Given the description of an element on the screen output the (x, y) to click on. 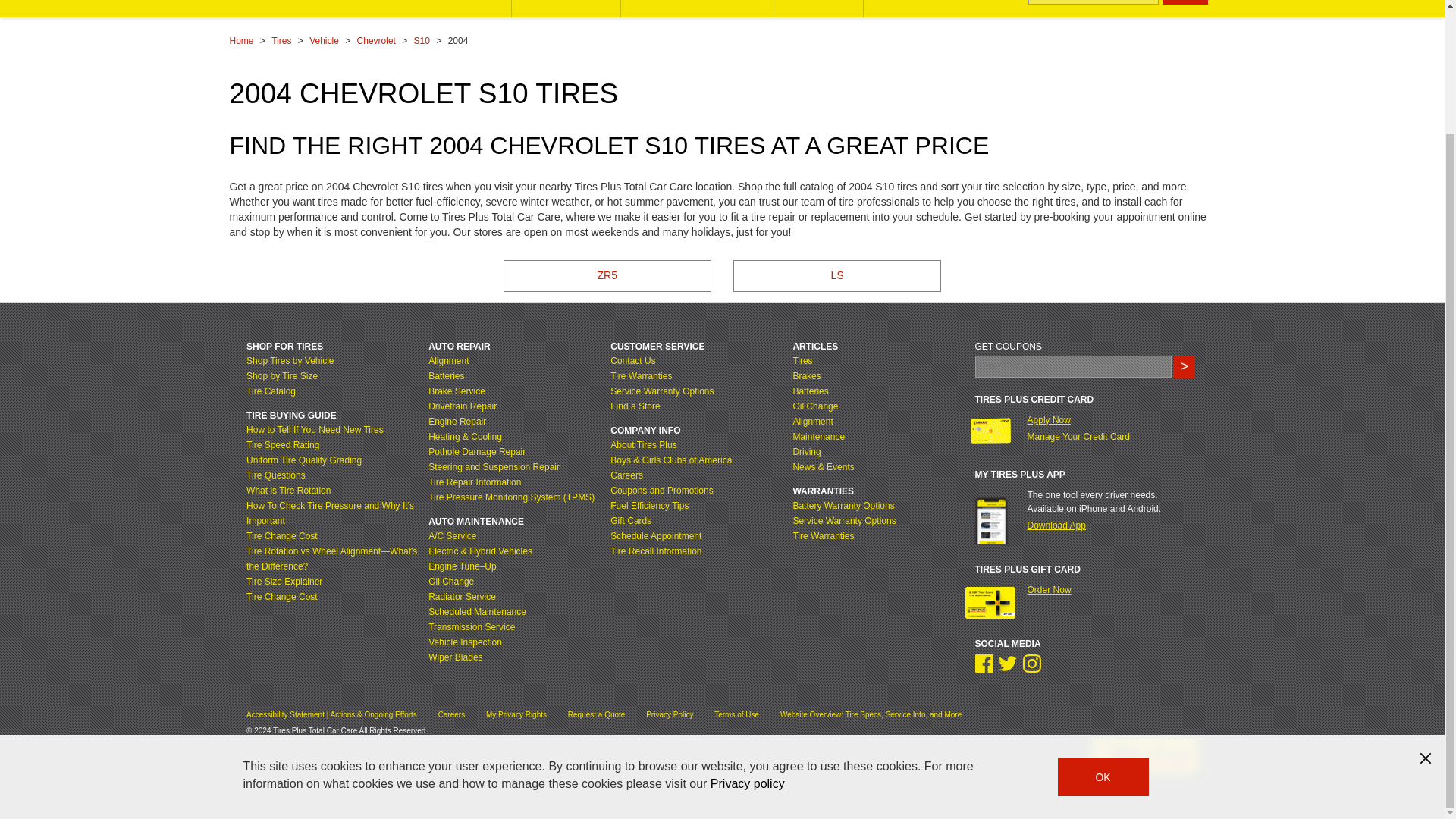
TIRES (479, 8)
Zip Code (1092, 2)
Instagram (1032, 663)
Enter Email (1073, 366)
Twitter (1007, 663)
AUTO REPAIR (566, 8)
Privacy policy (747, 634)
close button (1425, 608)
agree button (1102, 628)
Facebook (983, 663)
